Given the description of an element on the screen output the (x, y) to click on. 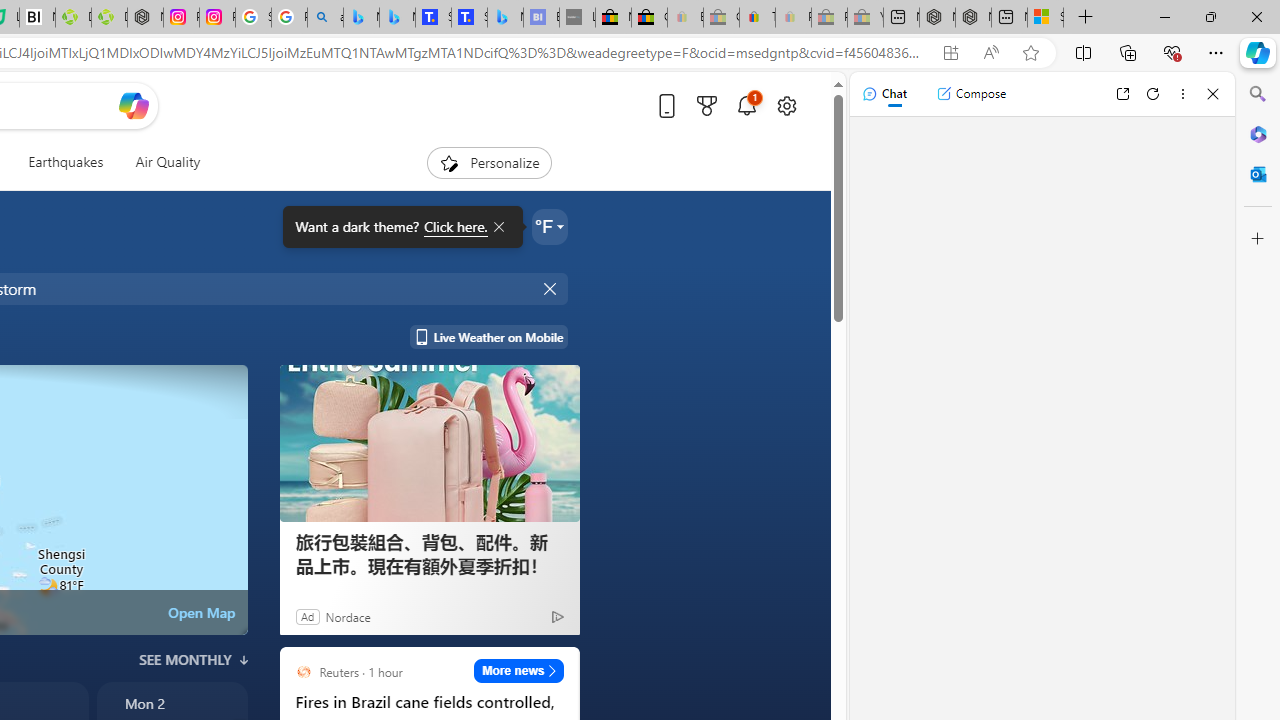
Earthquakes (65, 162)
Safety in Our Products - Google Safety Center (253, 17)
Microsoft Bing Travel - Flights from Hong Kong to Bangkok (361, 17)
Shangri-La Bangkok, Hotel reviews and Room rates (469, 17)
Air Quality (159, 162)
Microsoft rewards (707, 105)
Threats and offensive language policy | eBay (756, 17)
